Given the description of an element on the screen output the (x, y) to click on. 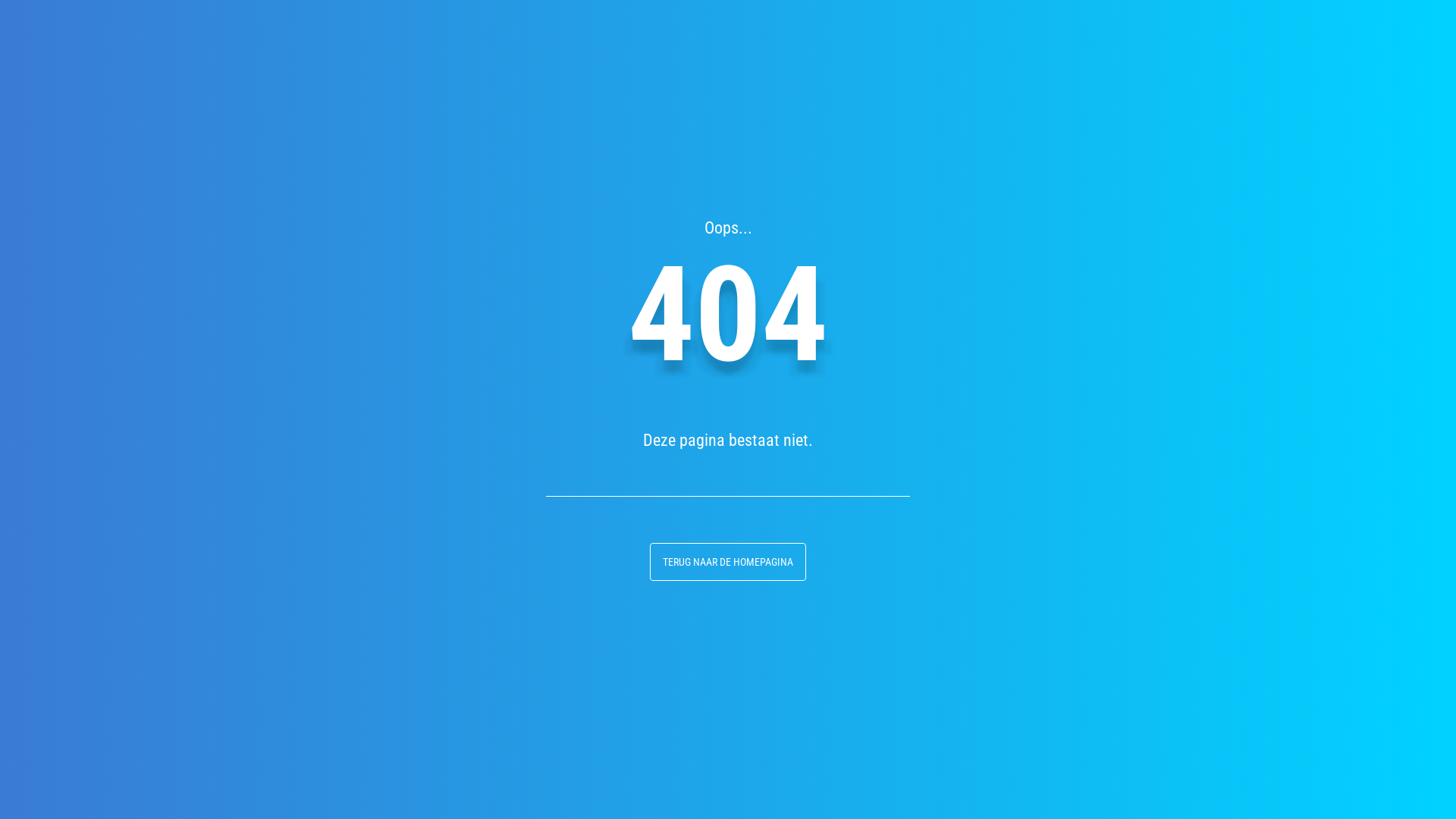
TERUG NAAR DE HOMEPAGINA Element type: text (727, 561)
